Given the description of an element on the screen output the (x, y) to click on. 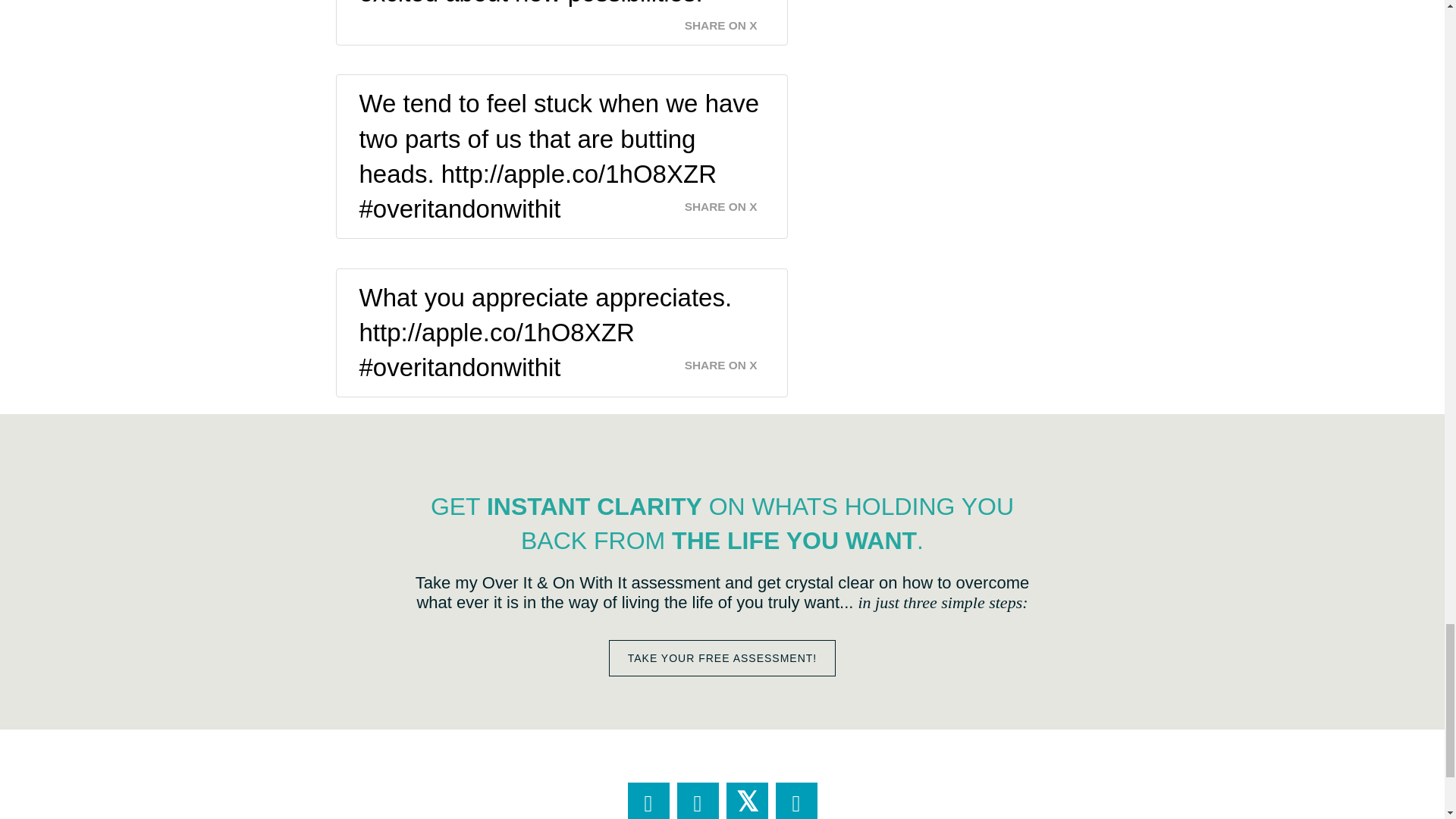
Instagram (697, 800)
YouTube (795, 800)
Twitter (747, 800)
